Given the description of an element on the screen output the (x, y) to click on. 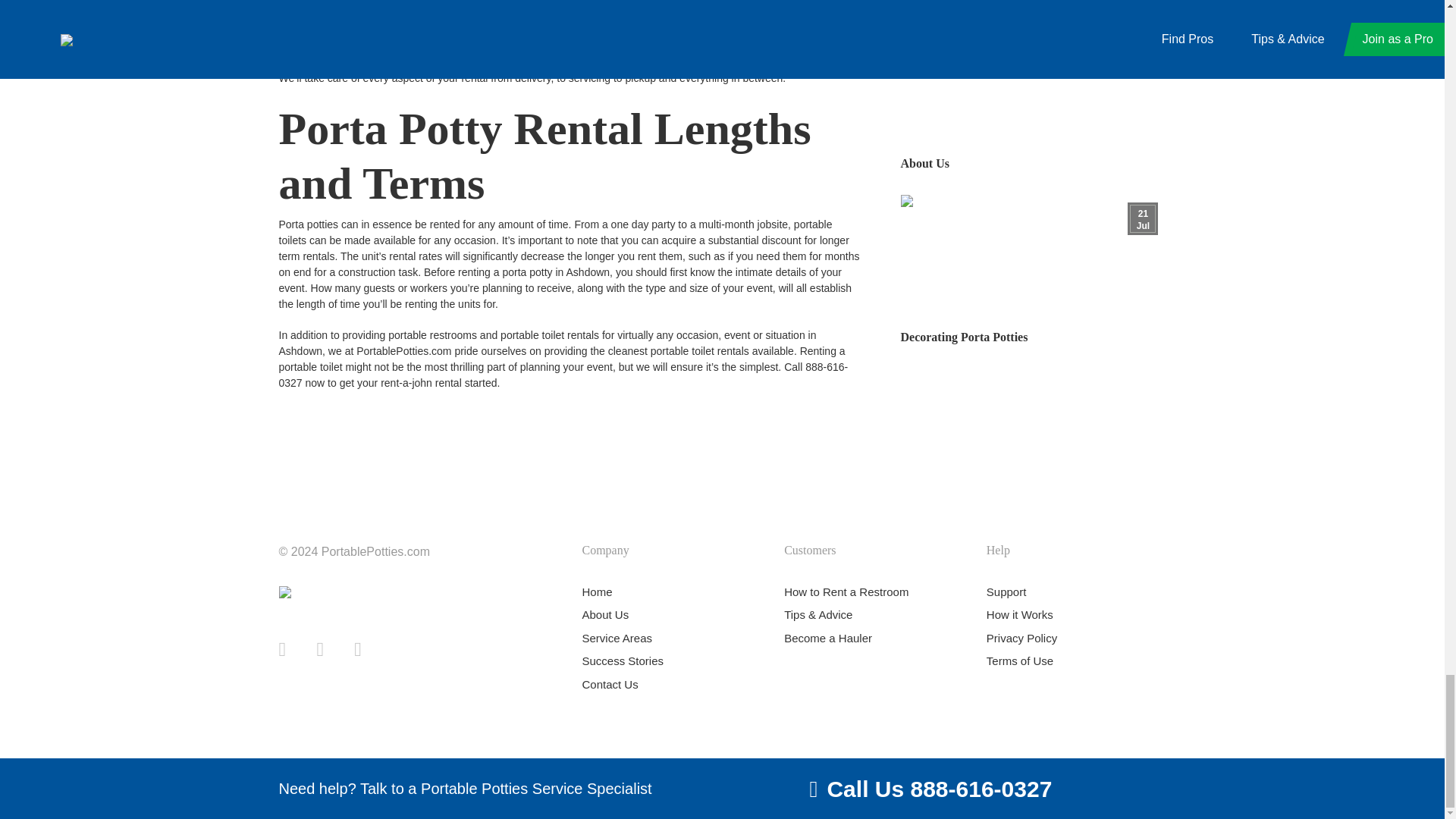
Support (1006, 591)
Contact Us (608, 684)
How to Rent a Restroom (846, 591)
Terms of Use (1019, 660)
Privacy Policy (1022, 637)
Call Us 888-616-0327 (939, 788)
Become a Hauler (828, 637)
Service Areas (616, 637)
How it Works (1019, 614)
Home (595, 591)
